Given the description of an element on the screen output the (x, y) to click on. 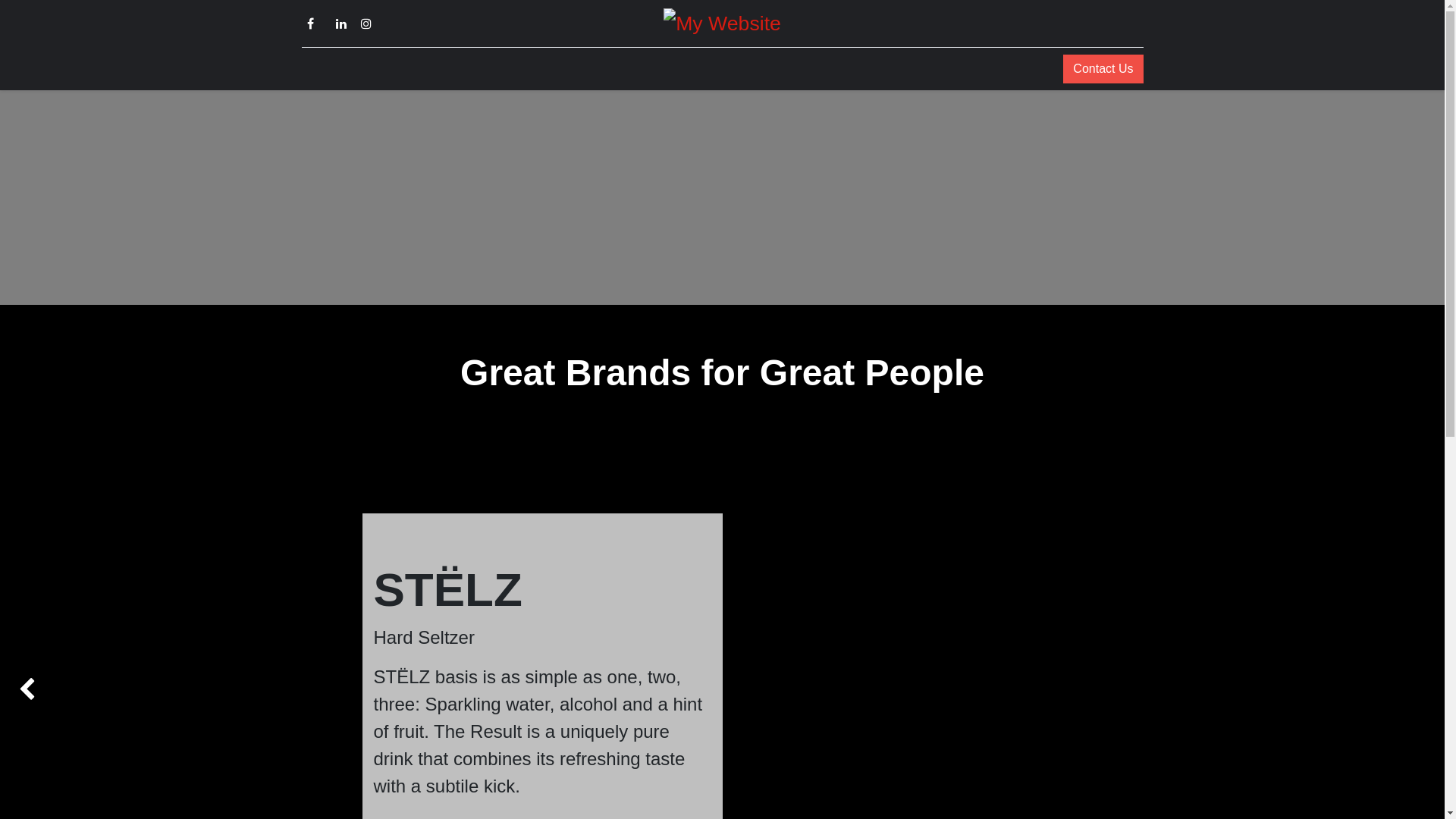
My Website Element type: hover (722, 23)
Contact Us Element type: text (1102, 68)
